Given the description of an element on the screen output the (x, y) to click on. 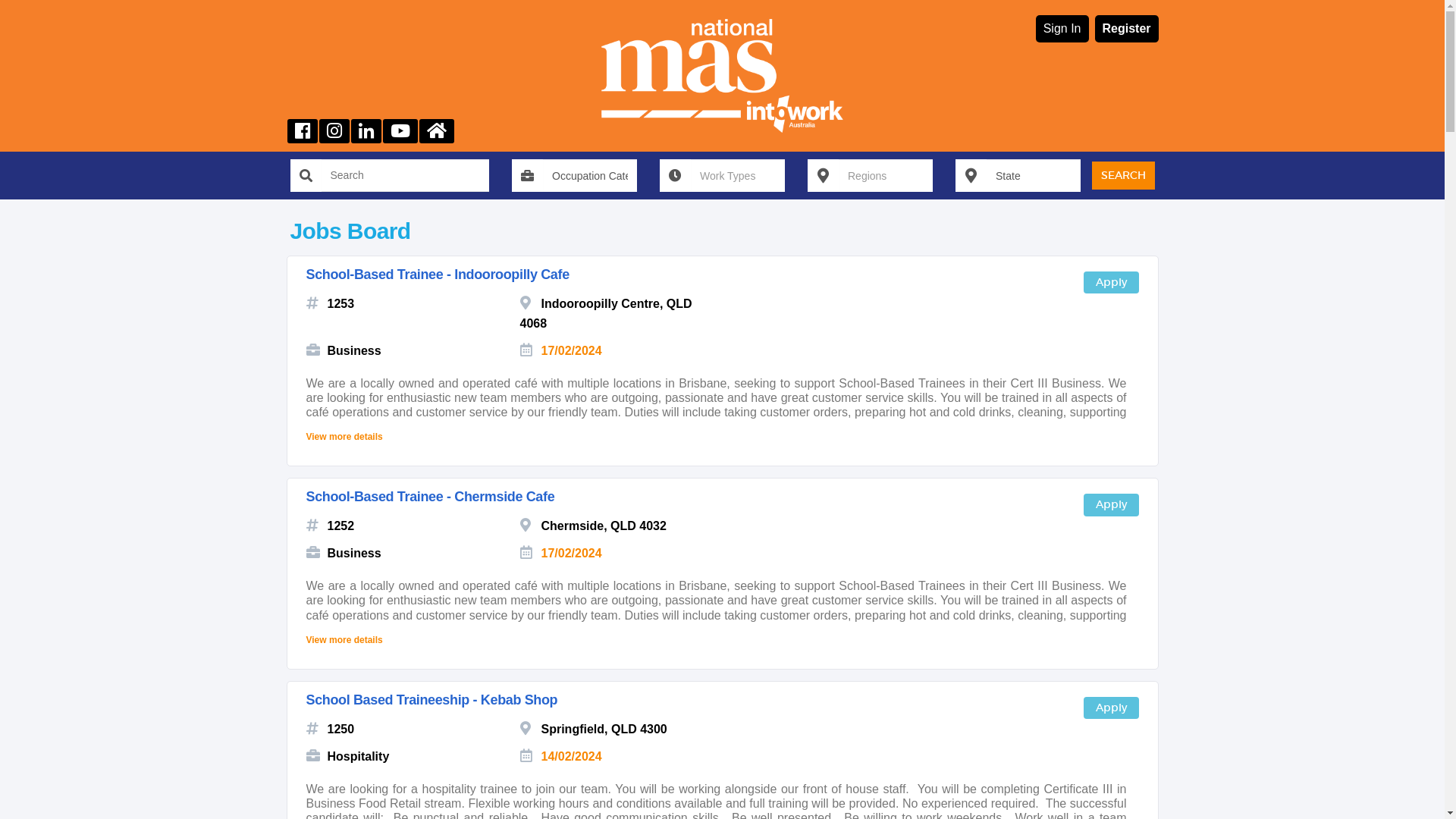
View more details Element type: text (344, 432)
School Based Traineeship - Kebab Shop Element type: text (432, 699)
View more details Element type: text (344, 635)
Apply Element type: text (1110, 504)
School-Based Trainee - Indooroopilly Cafe Element type: text (437, 274)
Apply Element type: text (1110, 707)
School-Based Trainee - Chermside Cafe Element type: text (430, 496)
Sign In Element type: text (1061, 28)
SEARCH Element type: text (1123, 175)
Apply Element type: text (1110, 282)
